Given the description of an element on the screen output the (x, y) to click on. 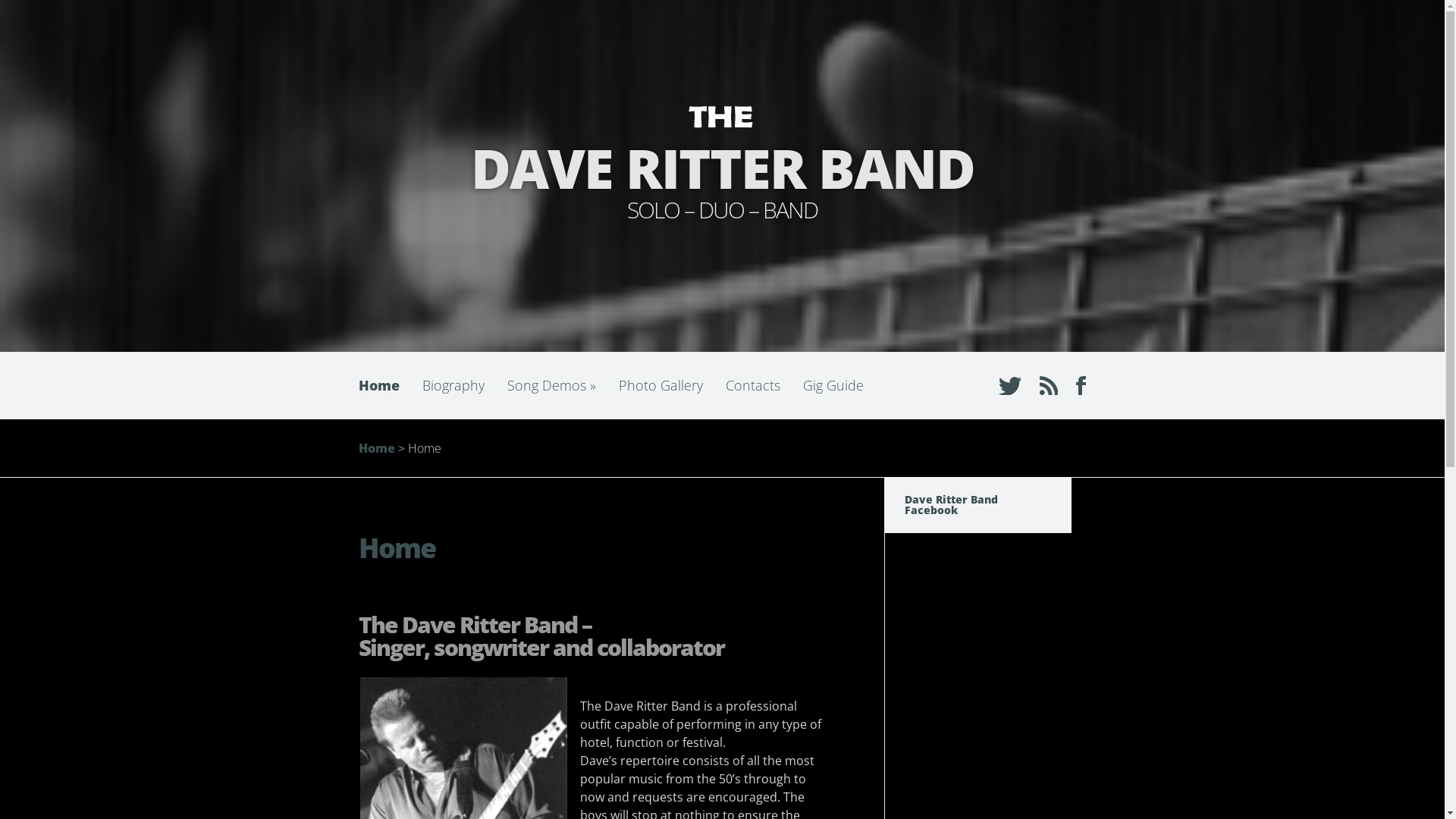
Biography Element type: text (453, 384)
Contacts Element type: text (752, 384)
Home Element type: text (383, 384)
Photo Gallery Element type: text (659, 384)
Home Element type: text (375, 447)
Gig Guide Element type: text (833, 384)
